Given the description of an element on the screen output the (x, y) to click on. 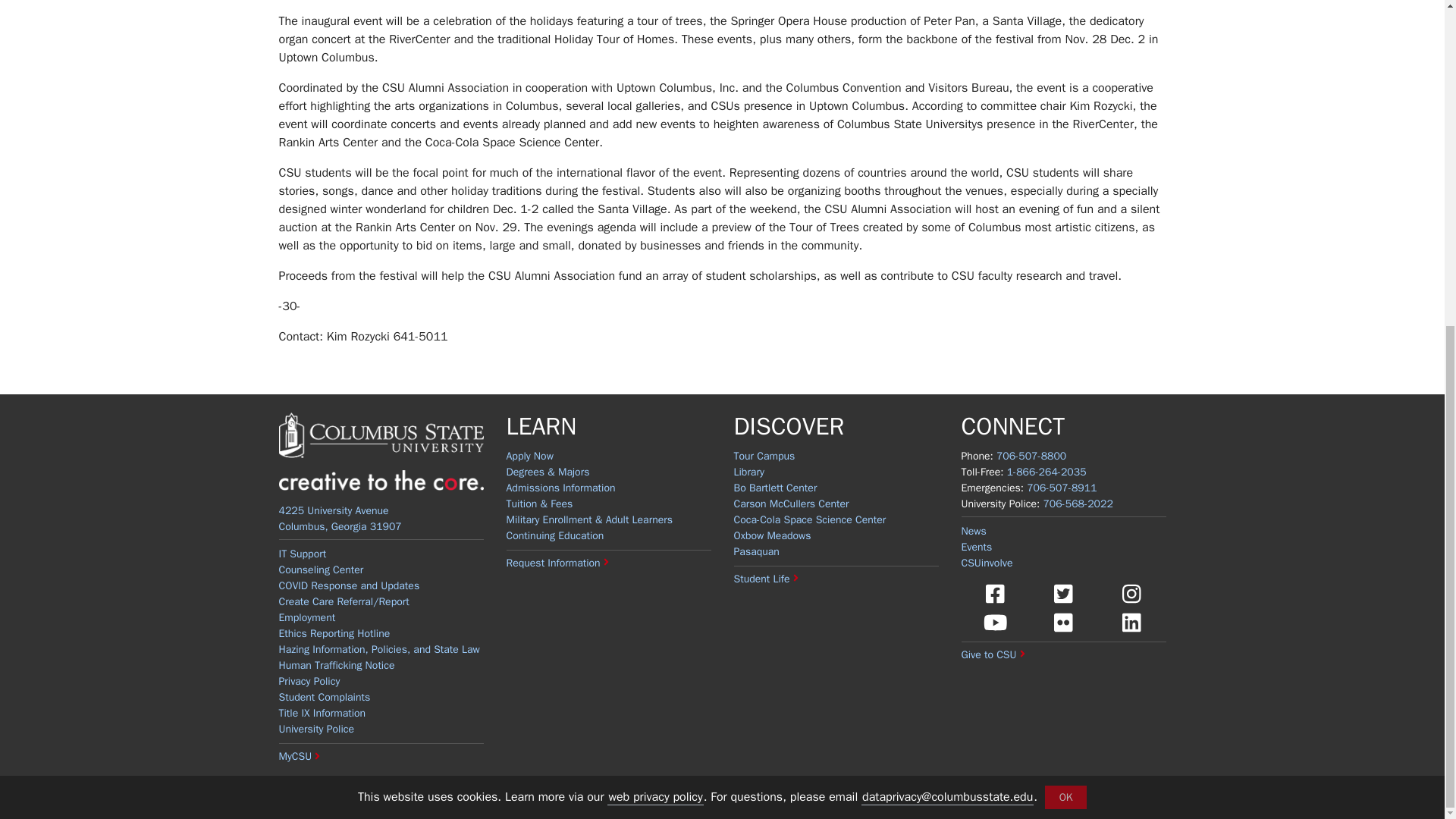
Google Maps (340, 518)
web privacy policy (655, 261)
OK (1065, 260)
